Given the description of an element on the screen output the (x, y) to click on. 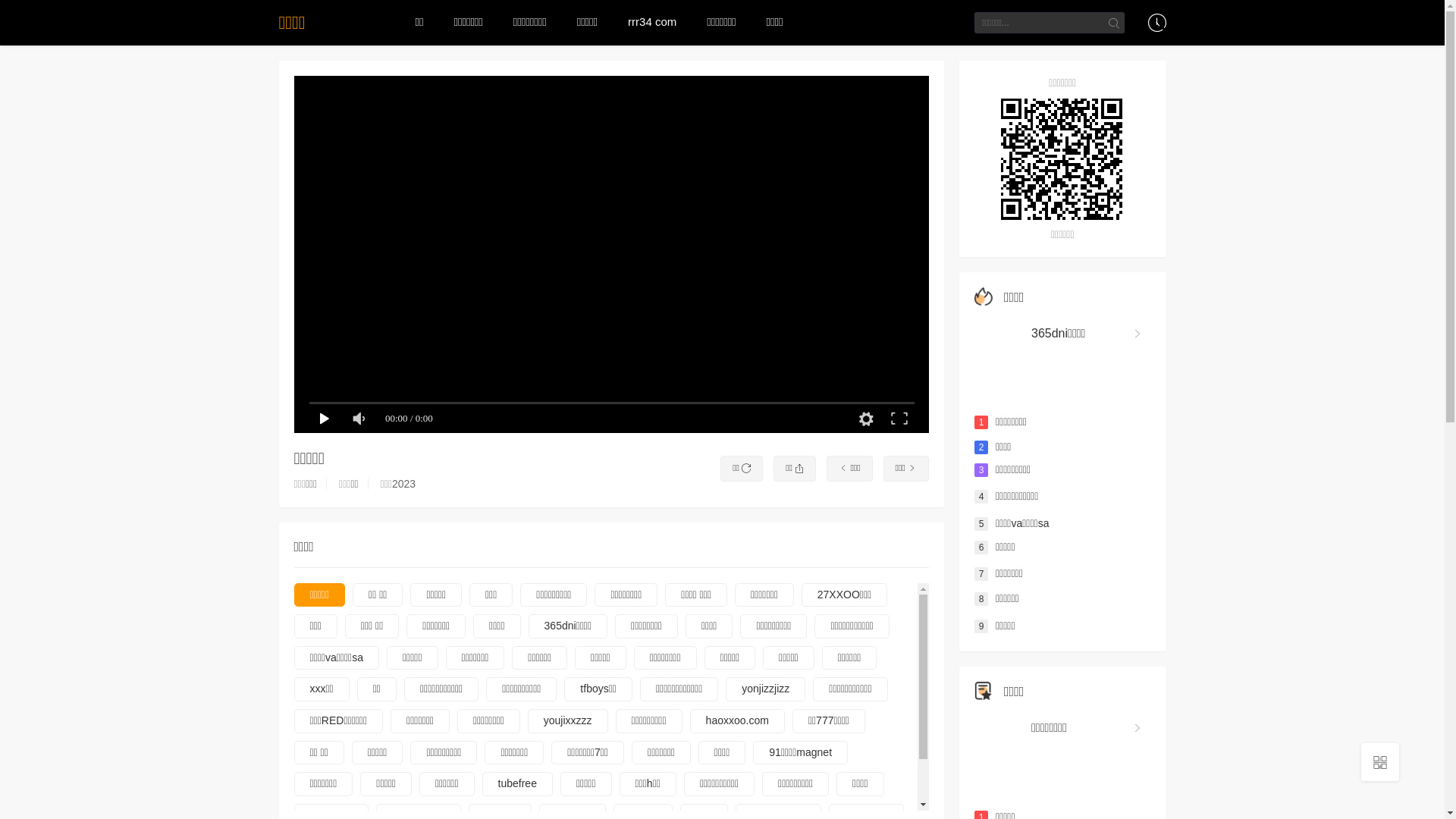
haoxxoo.com Element type: text (737, 721)
rrr34 com Element type: text (651, 21)
yonjizzjizz Element type: text (765, 689)
tubefree Element type: text (517, 783)
youjixxzzz Element type: text (567, 721)
http://20354.com/news/20230327/kgewy/c4evju6.html Element type: hover (1062, 158)
